Given the description of an element on the screen output the (x, y) to click on. 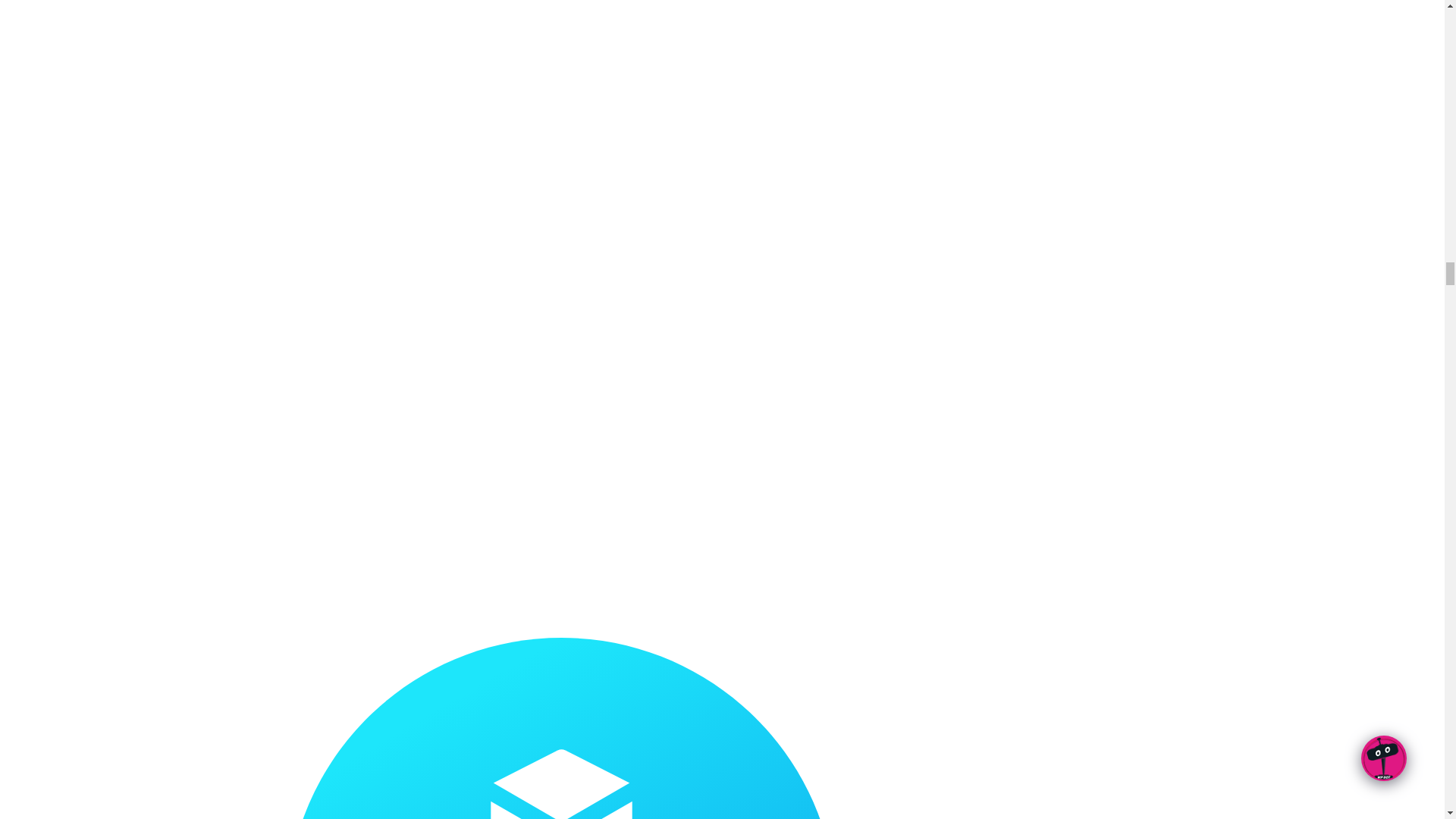
wpb-options-builders (560, 728)
